Given the description of an element on the screen output the (x, y) to click on. 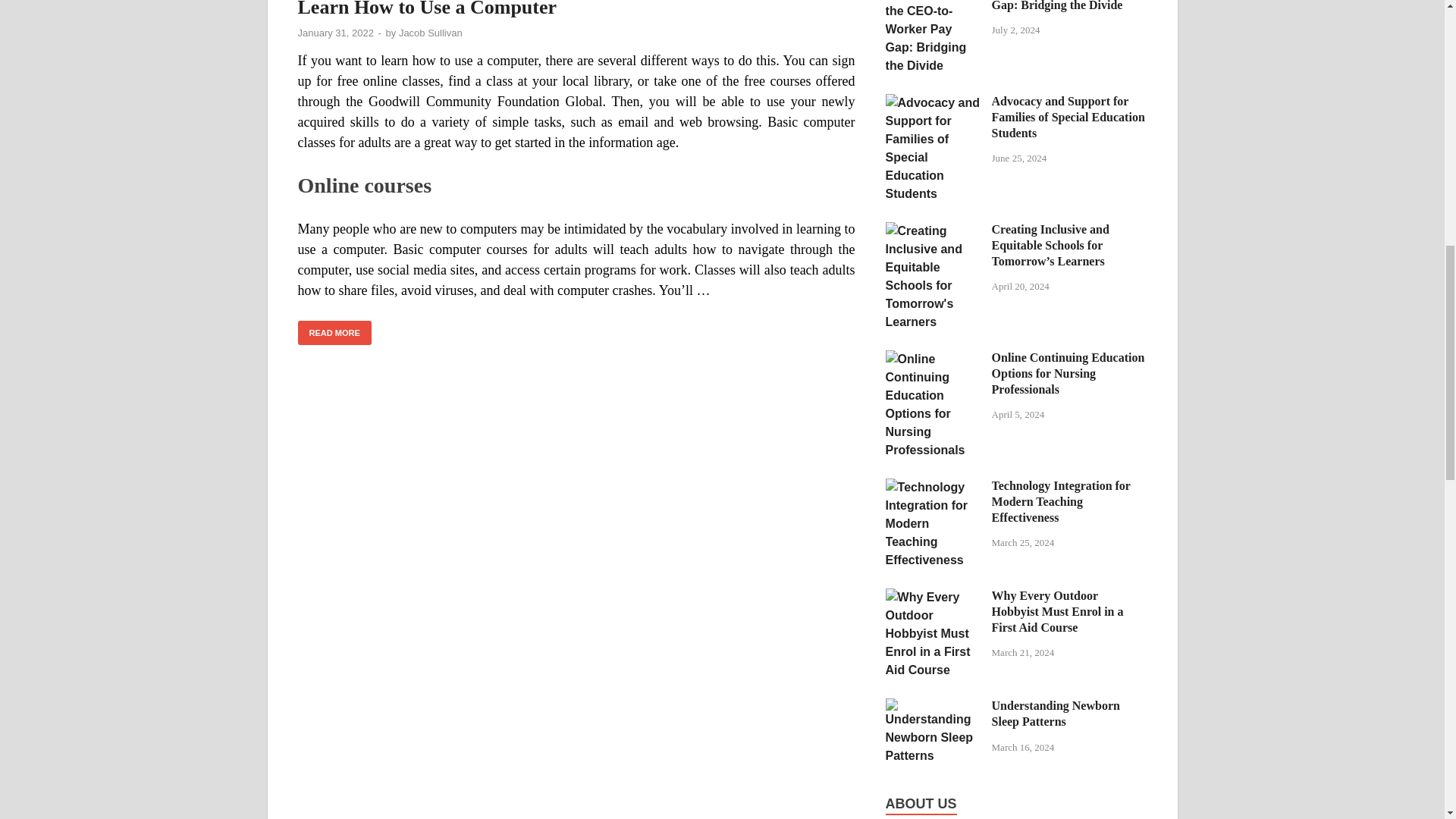
Technology Integration for Modern Teaching Effectiveness (932, 486)
January 31, 2022 (334, 32)
Why Every Outdoor Hobbyist Must Enrol in a First Aid Course (932, 596)
Jacob Sullivan (430, 32)
Understanding Newborn Sleep Patterns (932, 707)
READ MORE (334, 333)
Learn How to Use a Computer (426, 9)
